Given the description of an element on the screen output the (x, y) to click on. 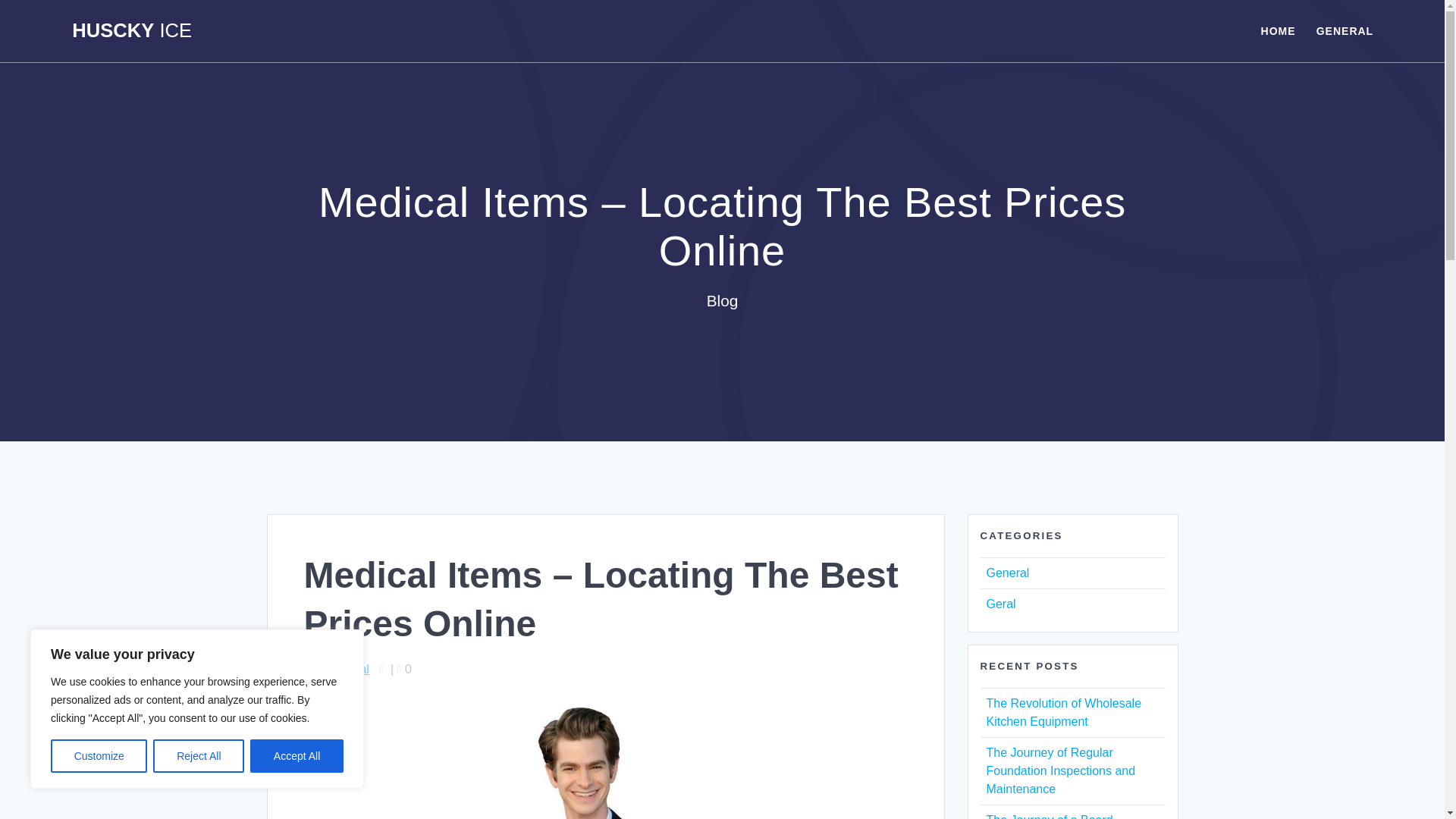
HOME (1277, 30)
The Joy of a New Shower Enclosure: A Life-Changing Upgrade (1058, 770)
Customize (98, 756)
GENERAL (1344, 30)
Accept All (296, 756)
Unlocking Success: The Impact of Purchased YouTube Views (1070, 712)
HUSCKY ICE (131, 30)
Reject All (198, 756)
Geral (999, 603)
